Given the description of an element on the screen output the (x, y) to click on. 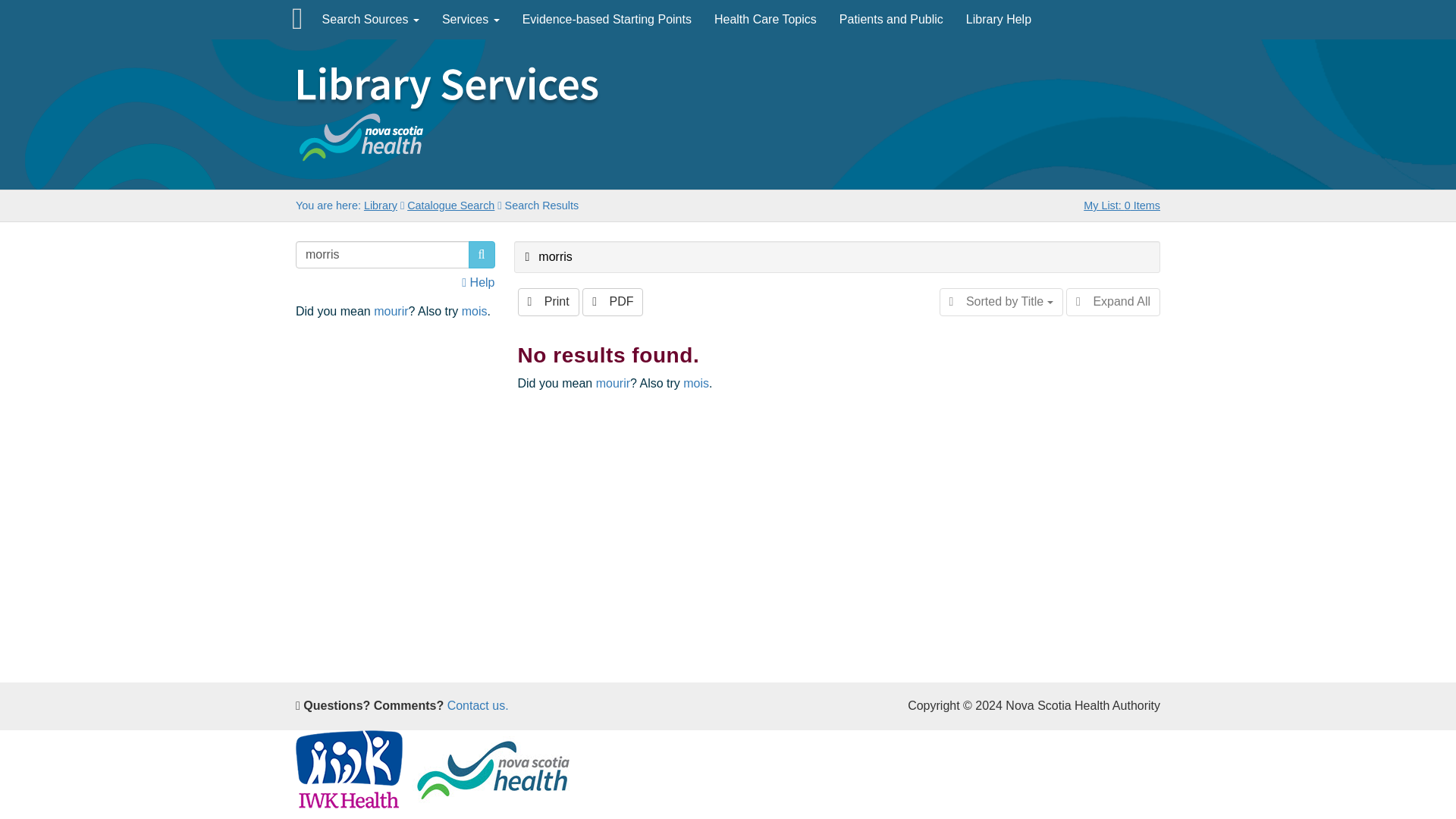
Library (380, 205)
Evidence-based Starting Points (607, 19)
Library Help (998, 19)
mourir (390, 310)
Search (481, 254)
mourir (612, 382)
Help (478, 282)
Services (470, 19)
Print (547, 302)
mois (474, 310)
morris (548, 256)
Sorted by Title (1000, 302)
Health Care Topics (765, 19)
PDF (612, 302)
Patients and Public (891, 19)
